Given the description of an element on the screen output the (x, y) to click on. 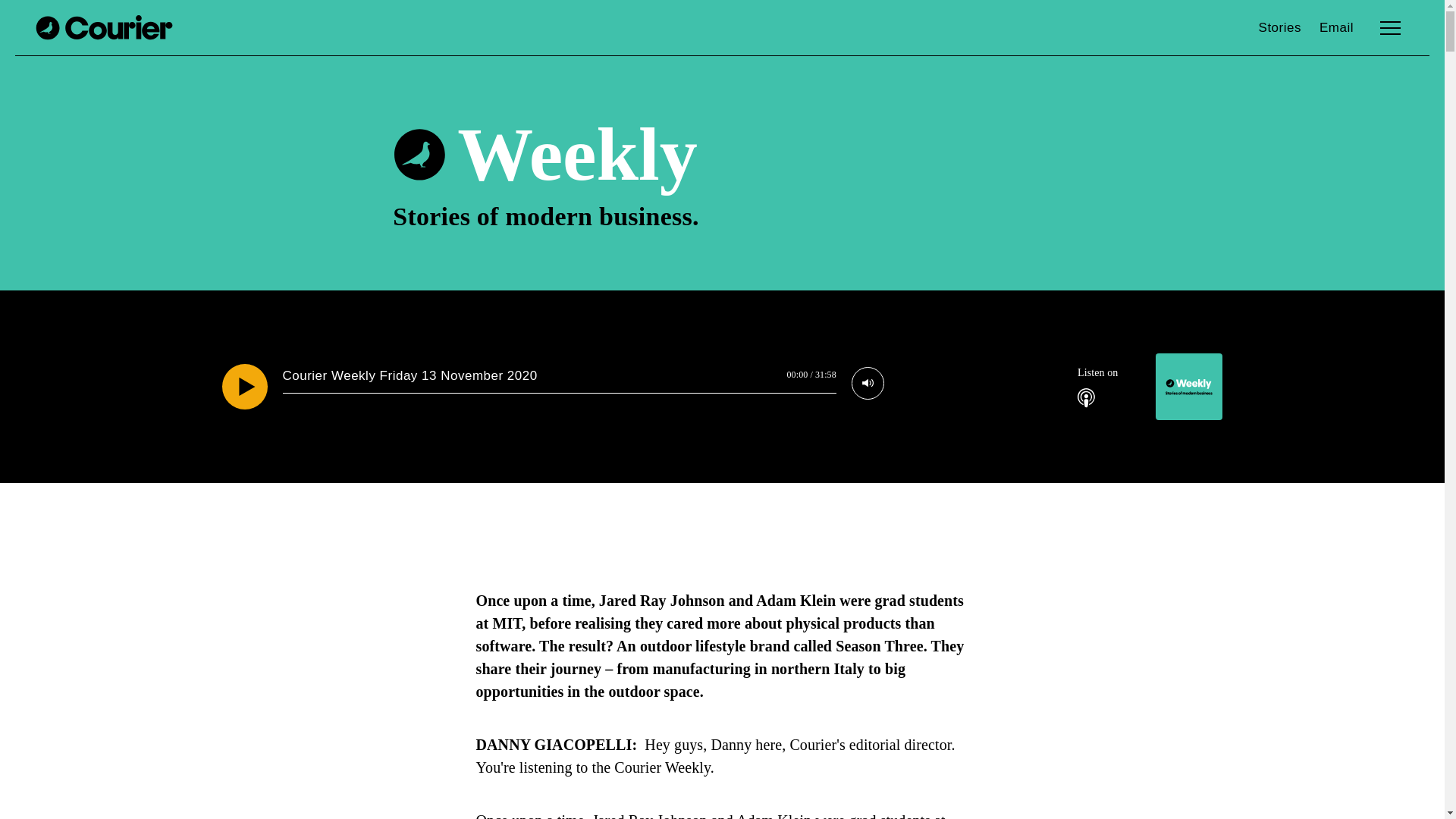
Email (1336, 29)
Stories (1280, 29)
